Given the description of an element on the screen output the (x, y) to click on. 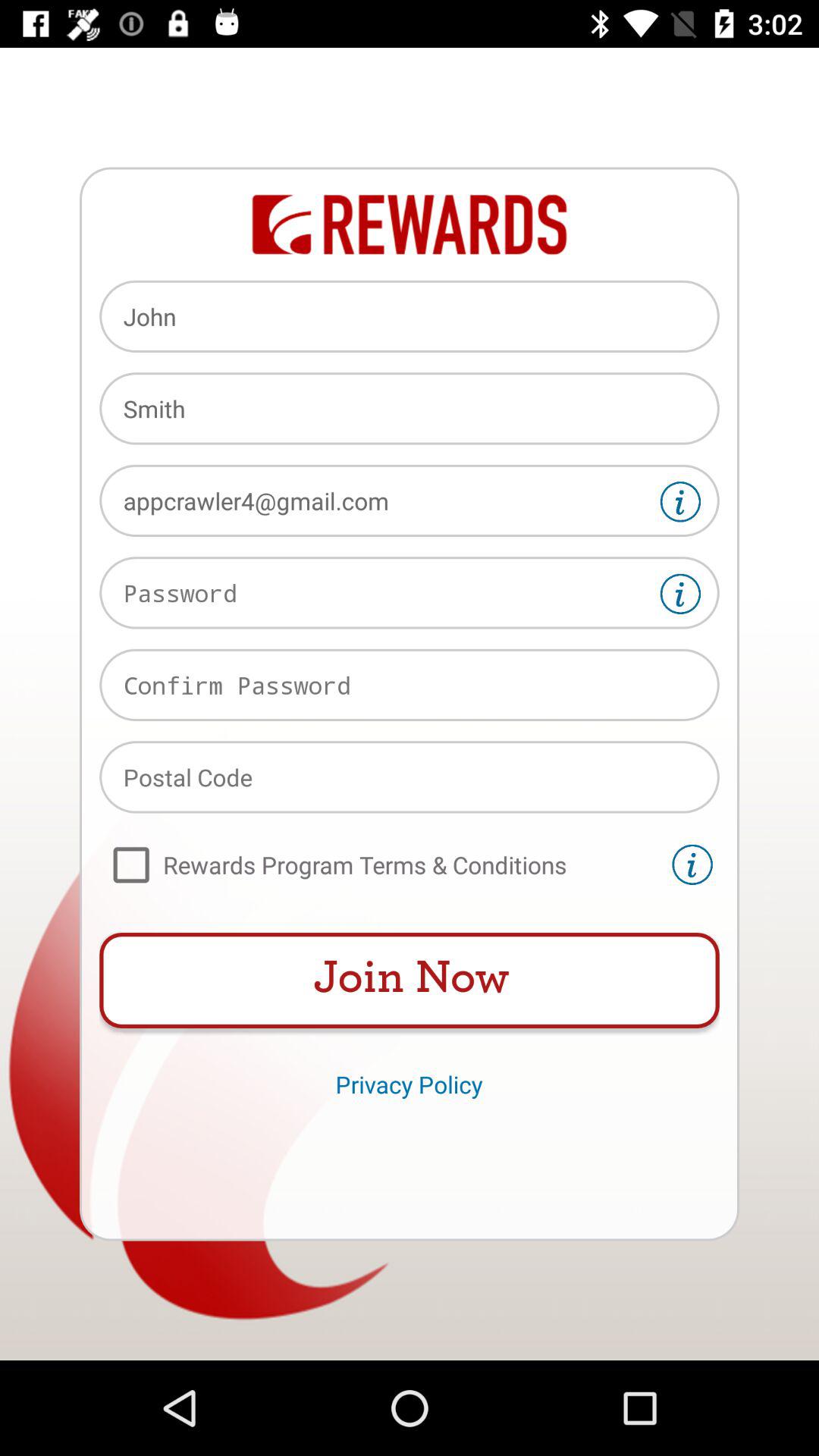
choose icon below the join now (408, 1084)
